Given the description of an element on the screen output the (x, y) to click on. 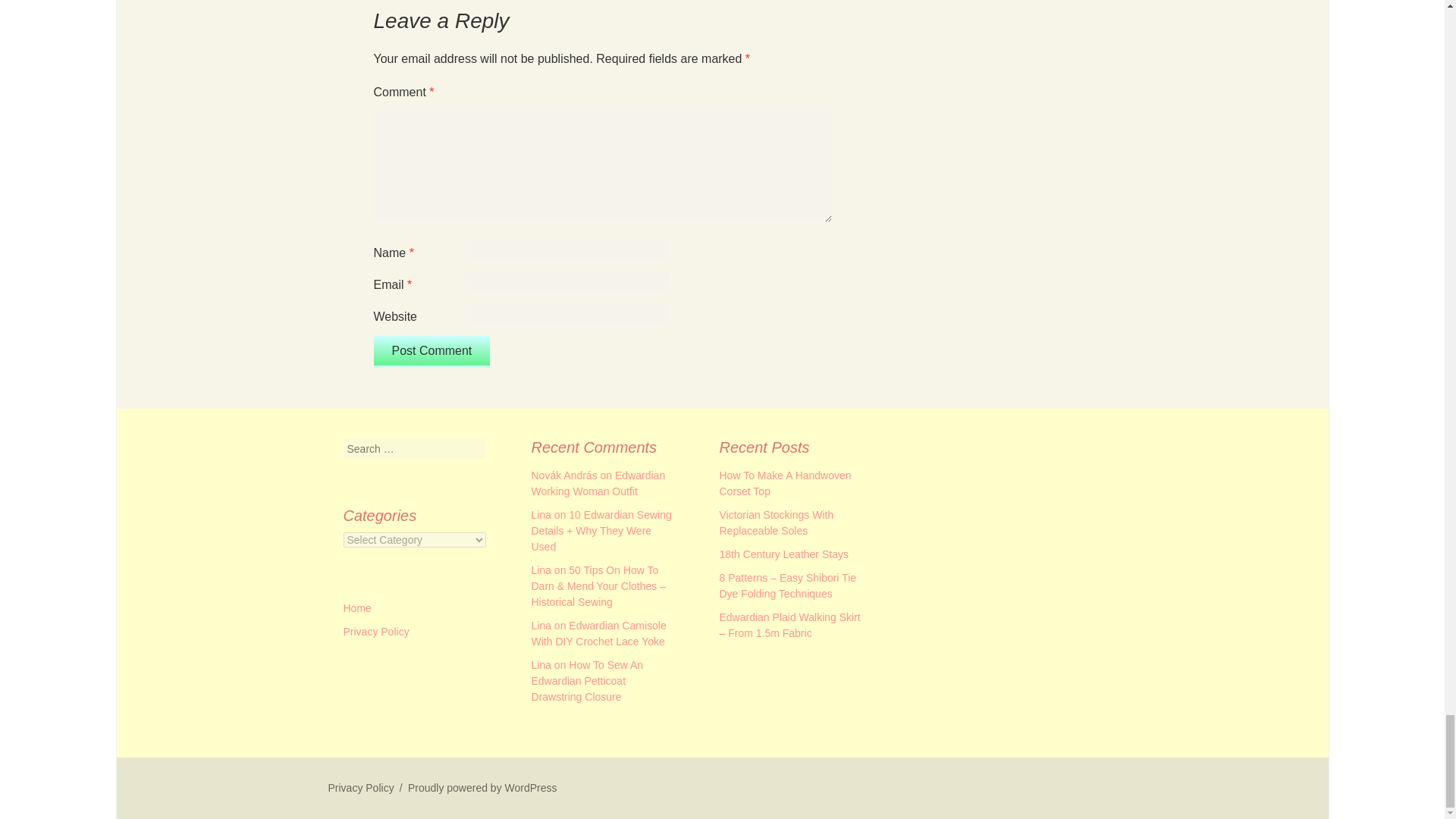
Post Comment (430, 351)
